Given the description of an element on the screen output the (x, y) to click on. 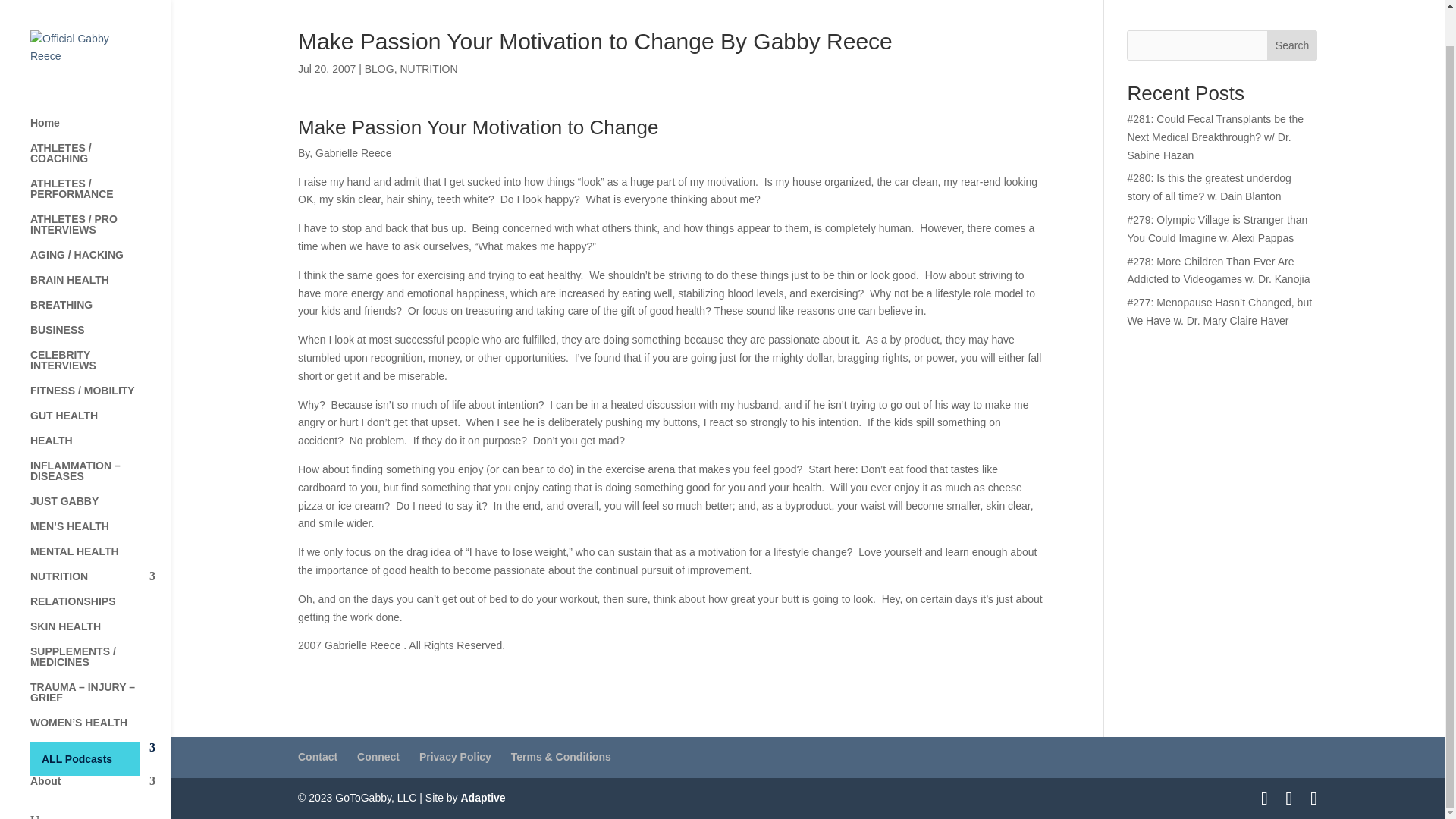
About (100, 750)
BUSINESS (100, 299)
ALL Podcasts (100, 721)
GUT HEALTH (100, 385)
JUST GABBY (100, 471)
BRAIN HEALTH (100, 249)
BREATHING (100, 274)
SKIN HEALTH (100, 596)
Home (100, 92)
RELATIONSHIPS (100, 570)
